Given the description of an element on the screen output the (x, y) to click on. 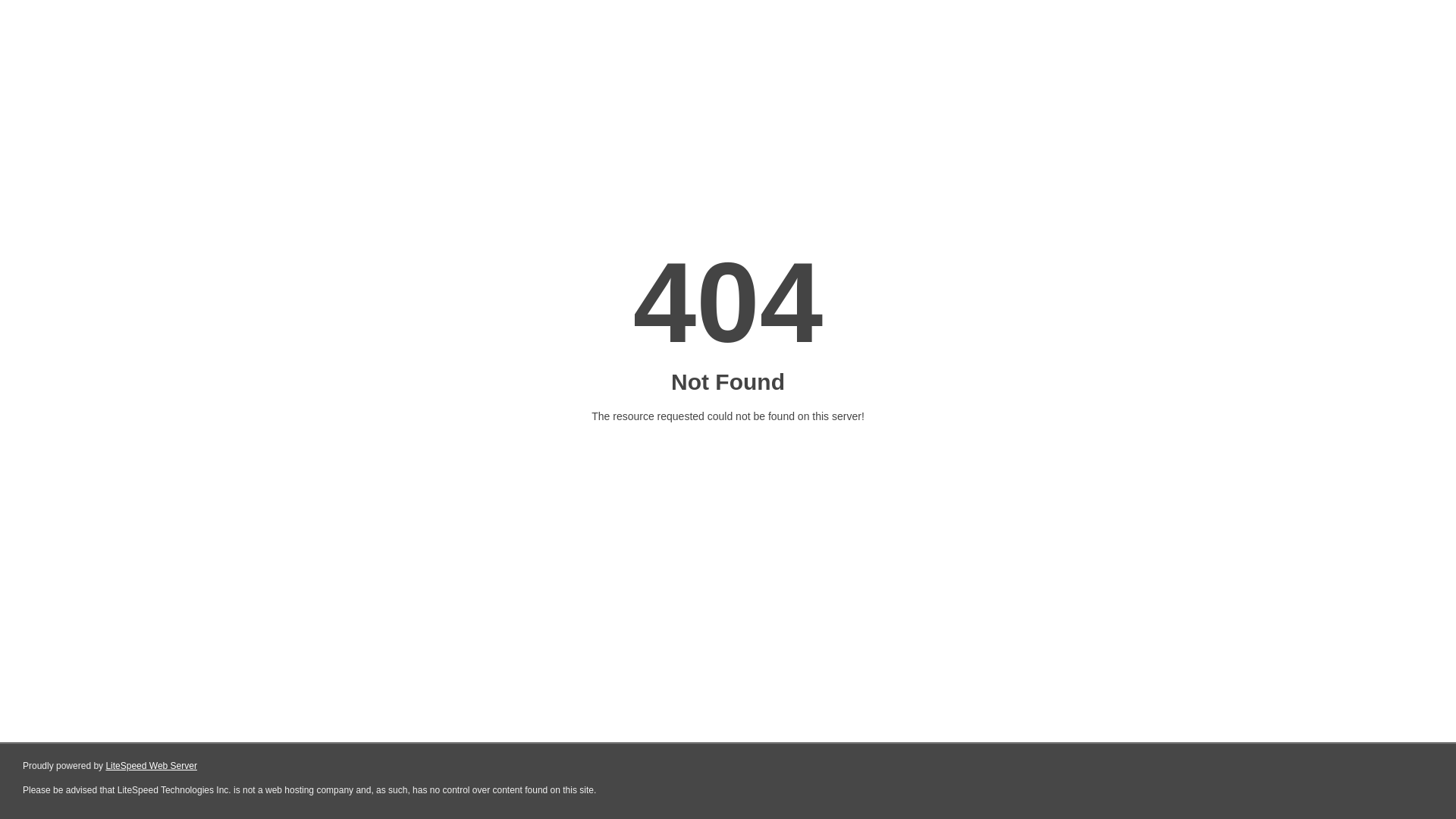
LiteSpeed Web Server Element type: text (151, 765)
